Given the description of an element on the screen output the (x, y) to click on. 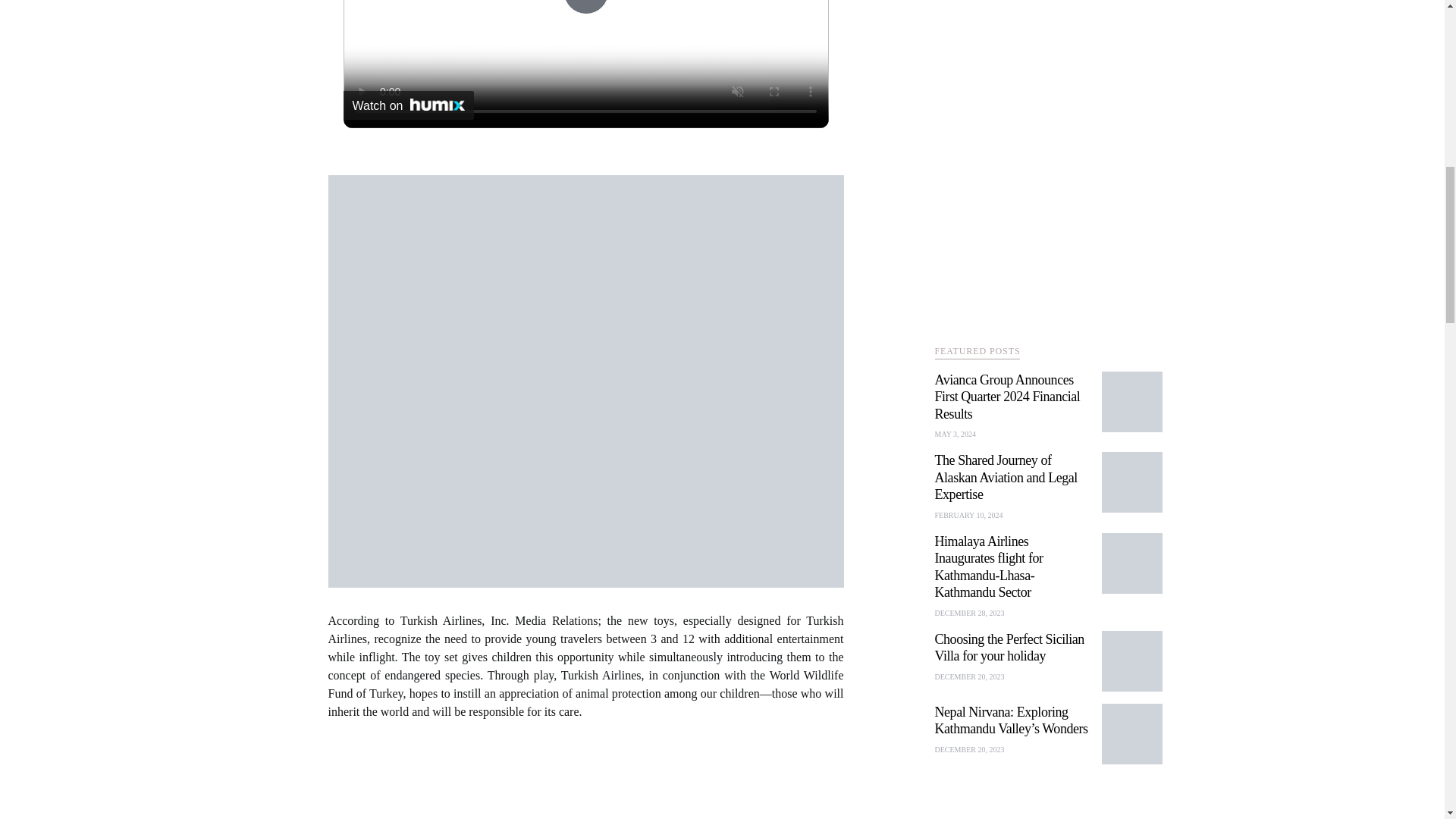
Play Video (585, 7)
